Given the description of an element on the screen output the (x, y) to click on. 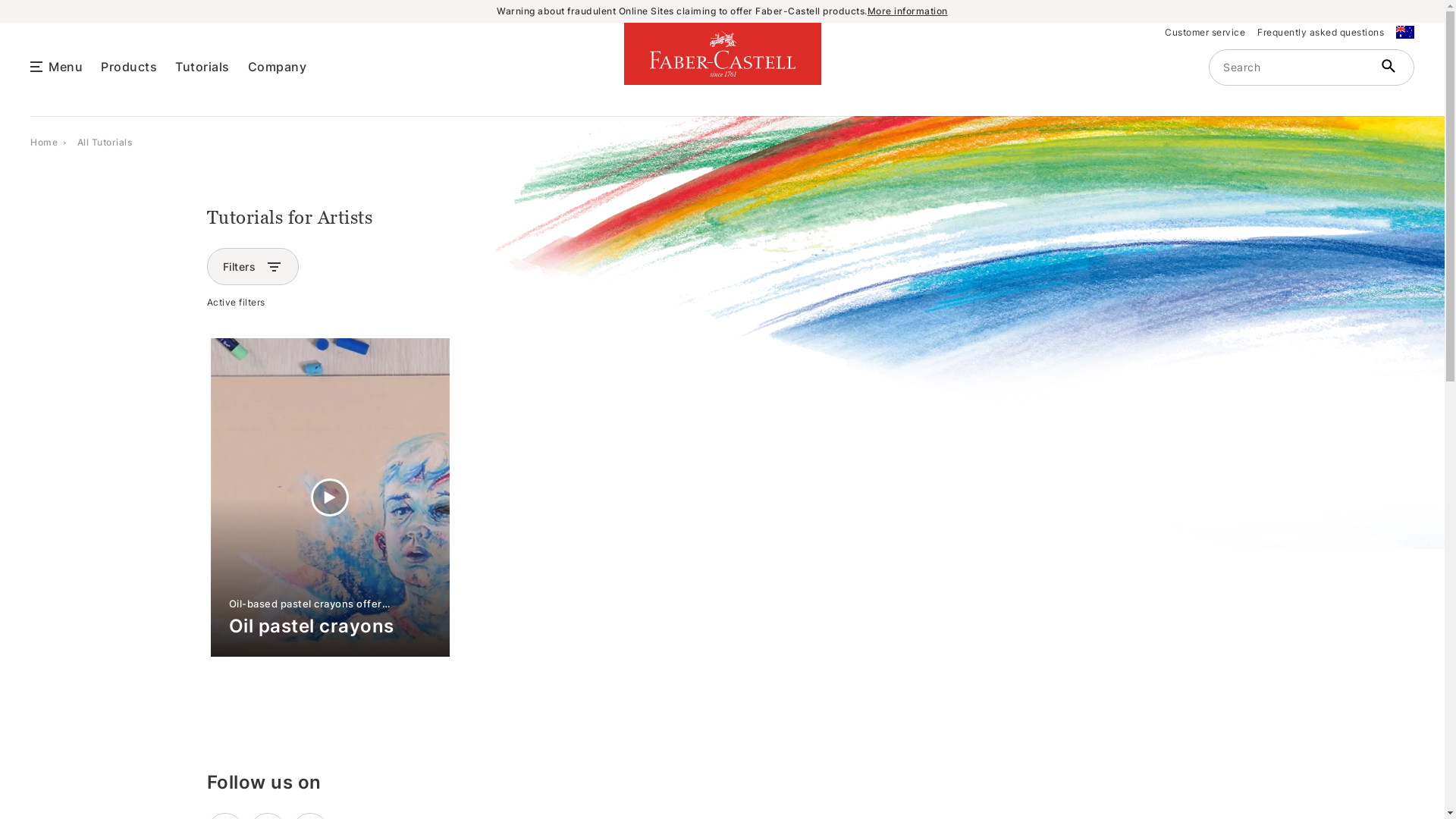
Frequently asked questions Element type: text (1320, 32)
More information Element type: text (907, 11)
Filters Element type: text (239, 266)
Menu Element type: text (65, 65)
Logo-FC-SVG Element type: hover (722, 53)
Tutorials Element type: text (202, 65)
Customer service Element type: text (1204, 32)
Company Element type: text (276, 65)
Products Element type: text (128, 65)
Home Element type: text (43, 140)
